Given the description of an element on the screen output the (x, y) to click on. 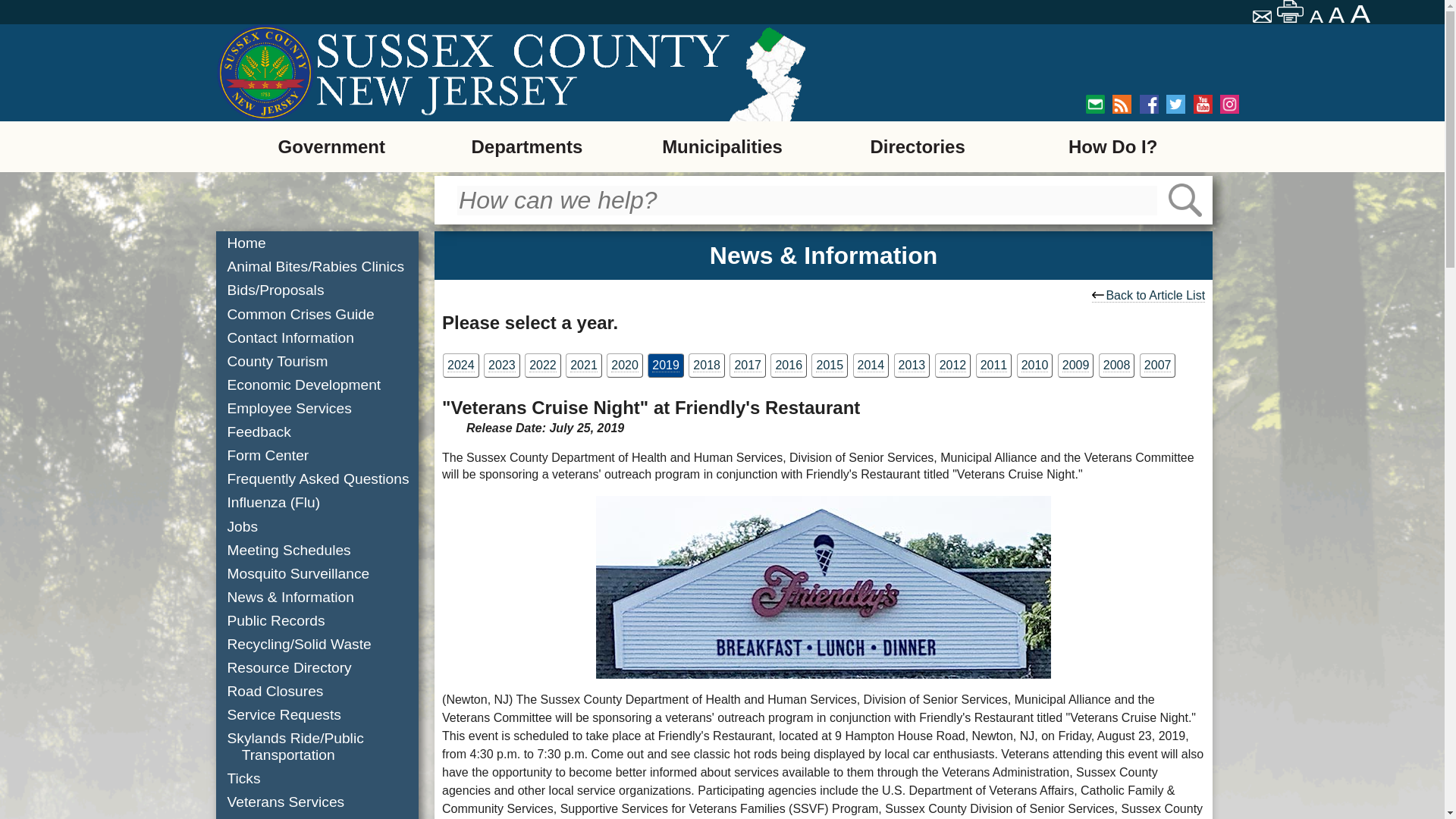
Visit our RSS feed (1121, 104)
Follow us on Twitter (1175, 104)
Sign Up for emails from Sussex County (1095, 104)
Medium font size (1336, 14)
Search Box (807, 200)
Print page (1291, 11)
Large font size (1362, 13)
Email page (1263, 18)
Government (330, 146)
Visit our YouTube channel (1202, 104)
Visit our Instagram page (1229, 104)
Small font size (1316, 16)
Visit our Facebook page (1149, 104)
